Given the description of an element on the screen output the (x, y) to click on. 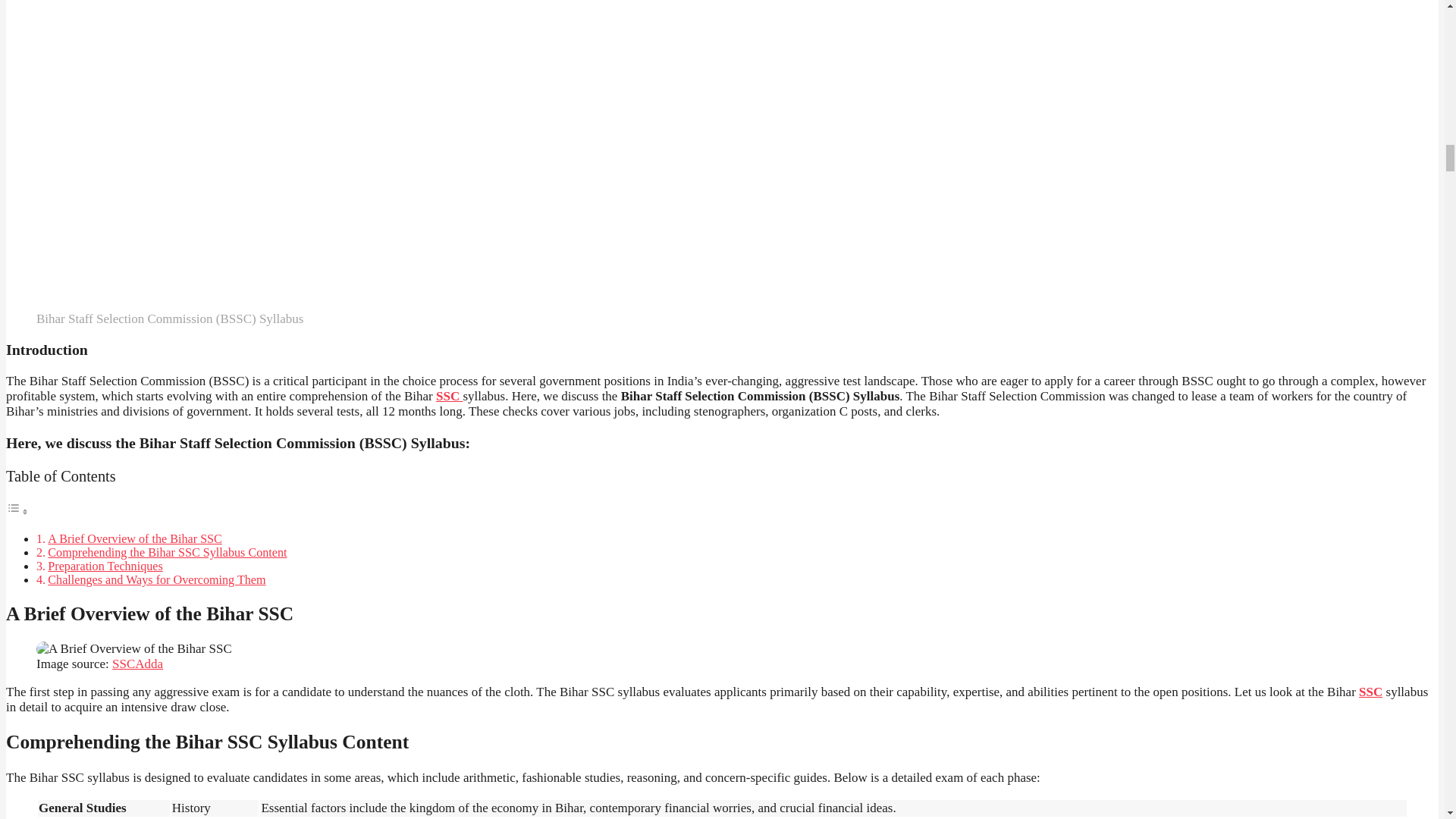
Preparation Techniques (104, 565)
SSC (449, 396)
Challenges and Ways for Overcoming Them (156, 579)
Comprehending the Bihar SSC Syllabus Content (167, 552)
A Brief Overview of the Bihar SSC (135, 538)
